Given the description of an element on the screen output the (x, y) to click on. 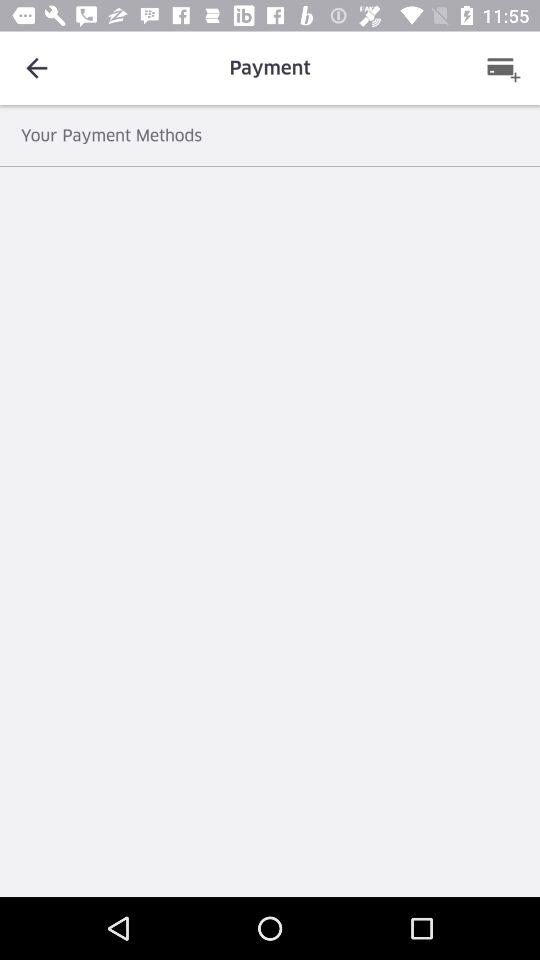
launch icon next to the payment (36, 68)
